Given the description of an element on the screen output the (x, y) to click on. 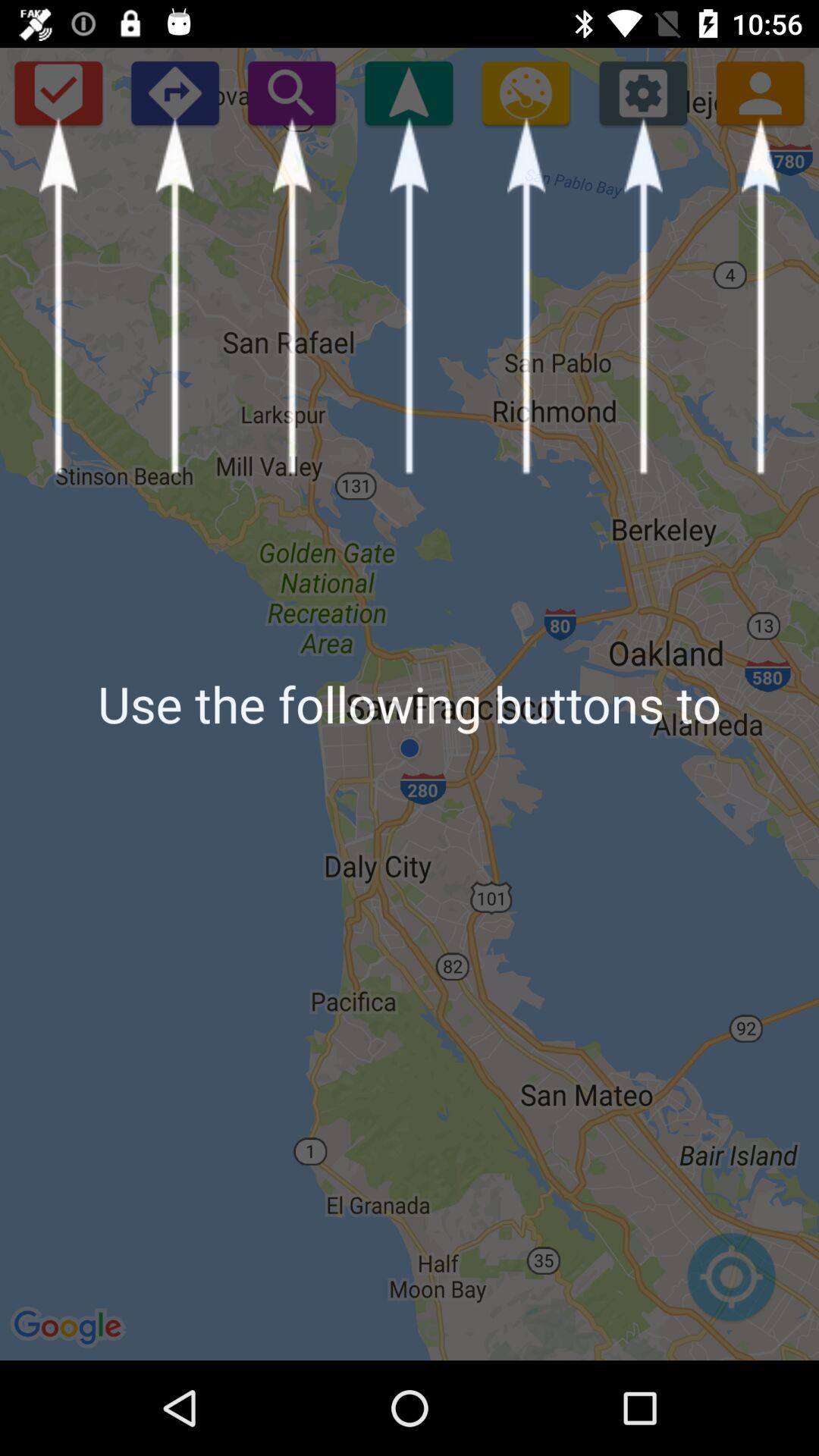
search (291, 92)
